Given the description of an element on the screen output the (x, y) to click on. 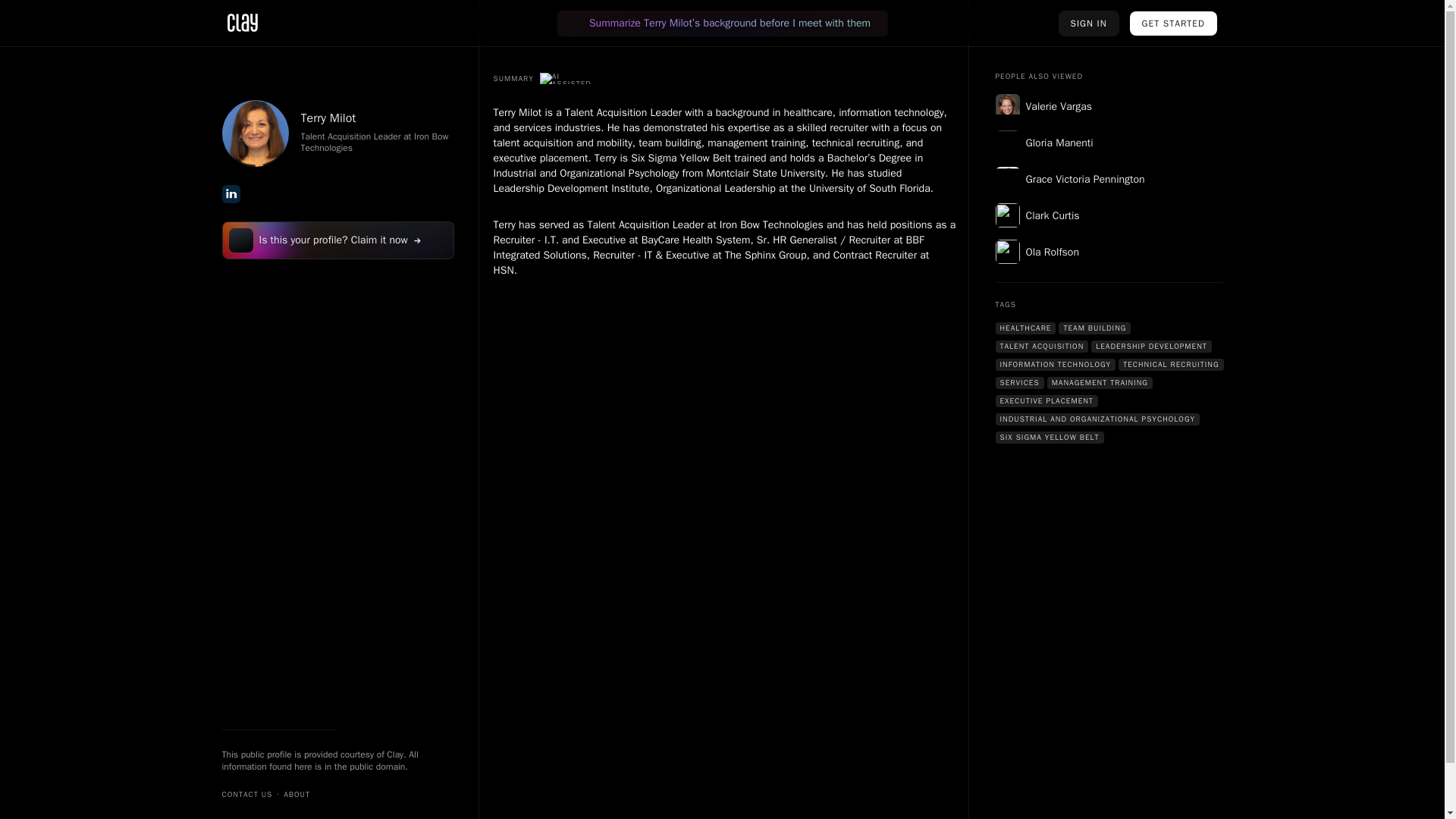
ABOUT (296, 794)
SERVICES (1018, 382)
HEALTHCARE (1024, 328)
TECHNICAL RECRUITING (1170, 364)
Gloria Manenti (1108, 142)
Clark Curtis (1108, 215)
Valerie Vargas (1108, 105)
Ola Rolfson (1108, 251)
TEAM BUILDING (1094, 328)
CONTACT US (246, 794)
